Given the description of an element on the screen output the (x, y) to click on. 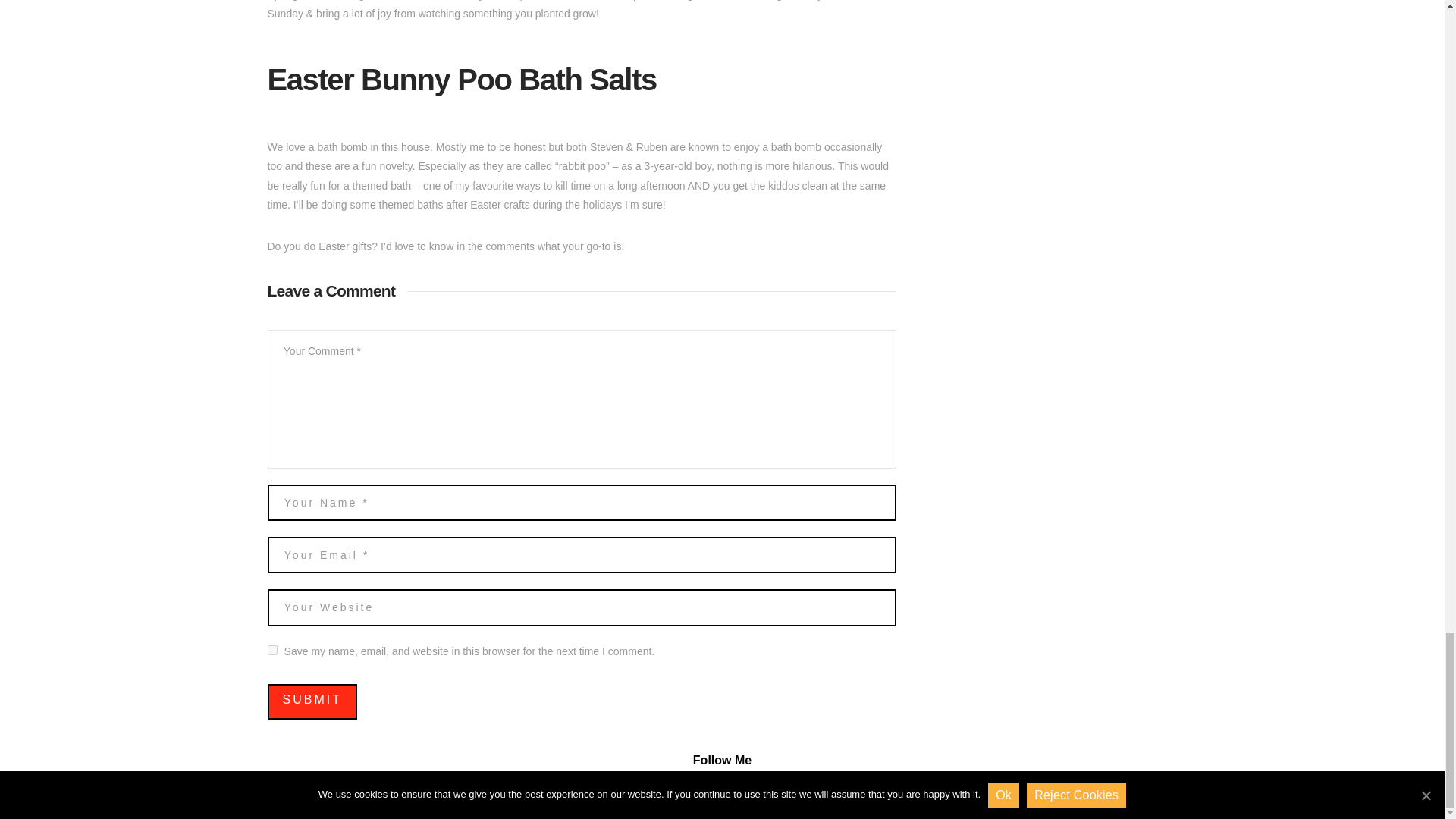
Submit (311, 701)
Submit (311, 701)
Easter Bunny Poo Bath Salts (461, 79)
yes (271, 650)
